Given the description of an element on the screen output the (x, y) to click on. 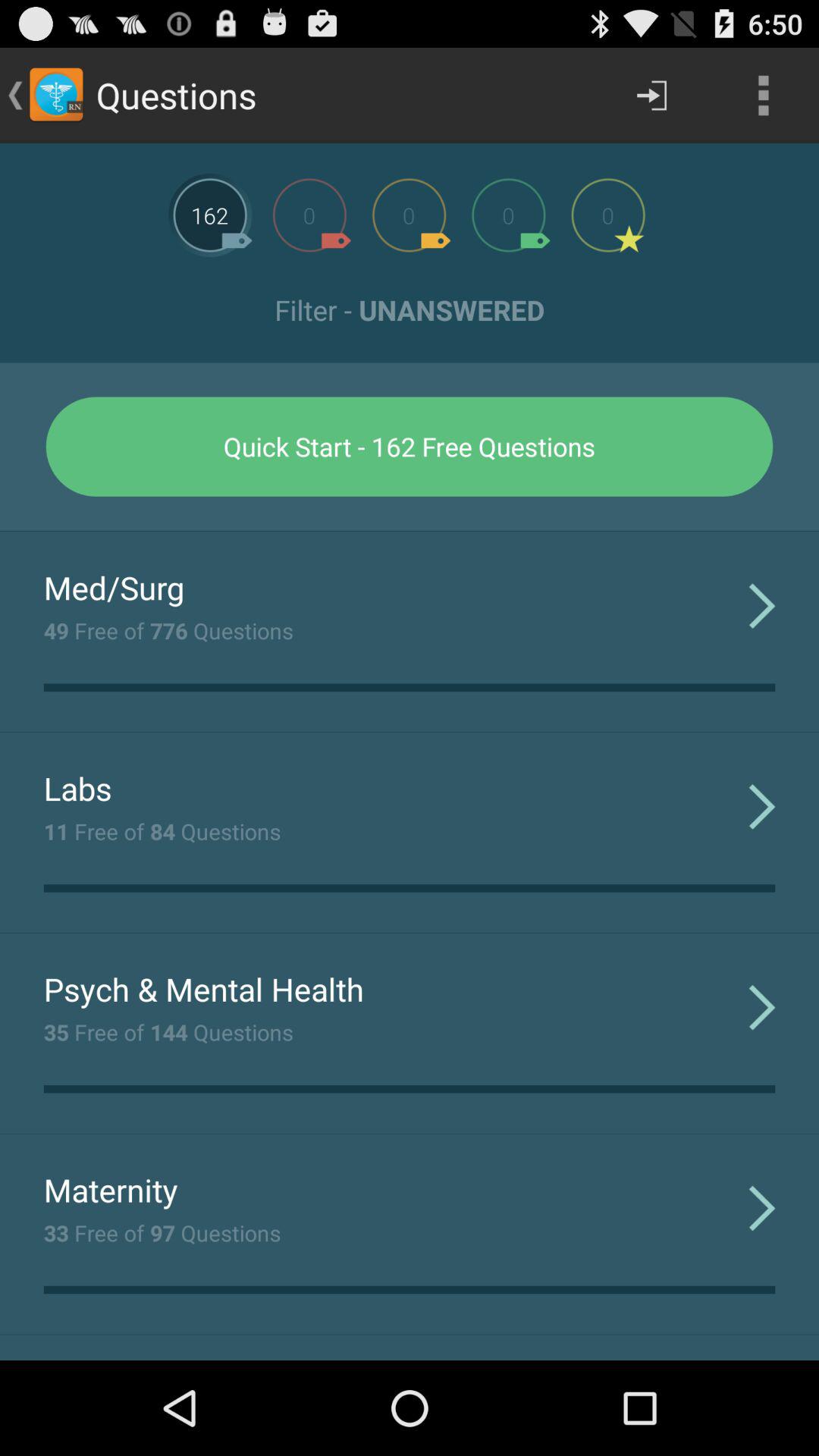
select icon to the right of questions app (651, 95)
